Given the description of an element on the screen output the (x, y) to click on. 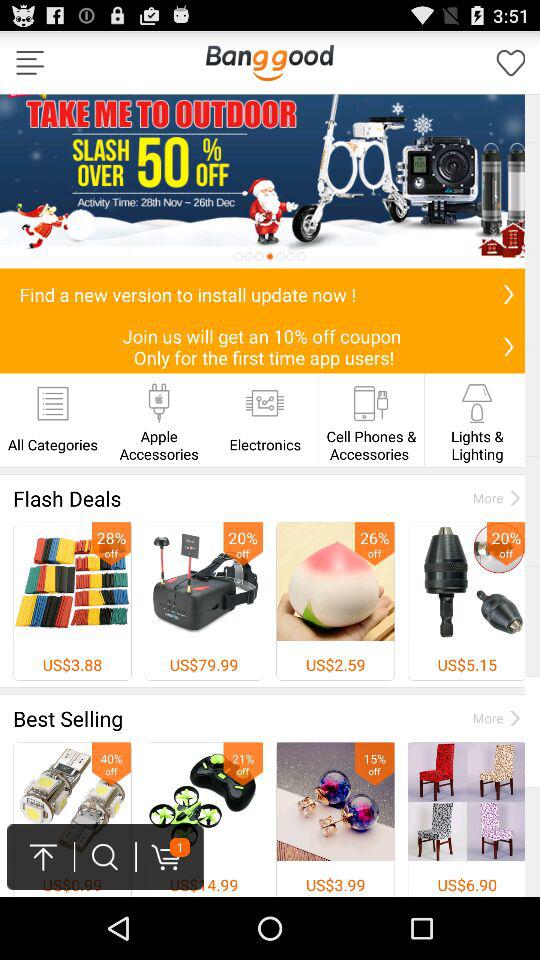
go to offers page (270, 181)
